Given the description of an element on the screen output the (x, y) to click on. 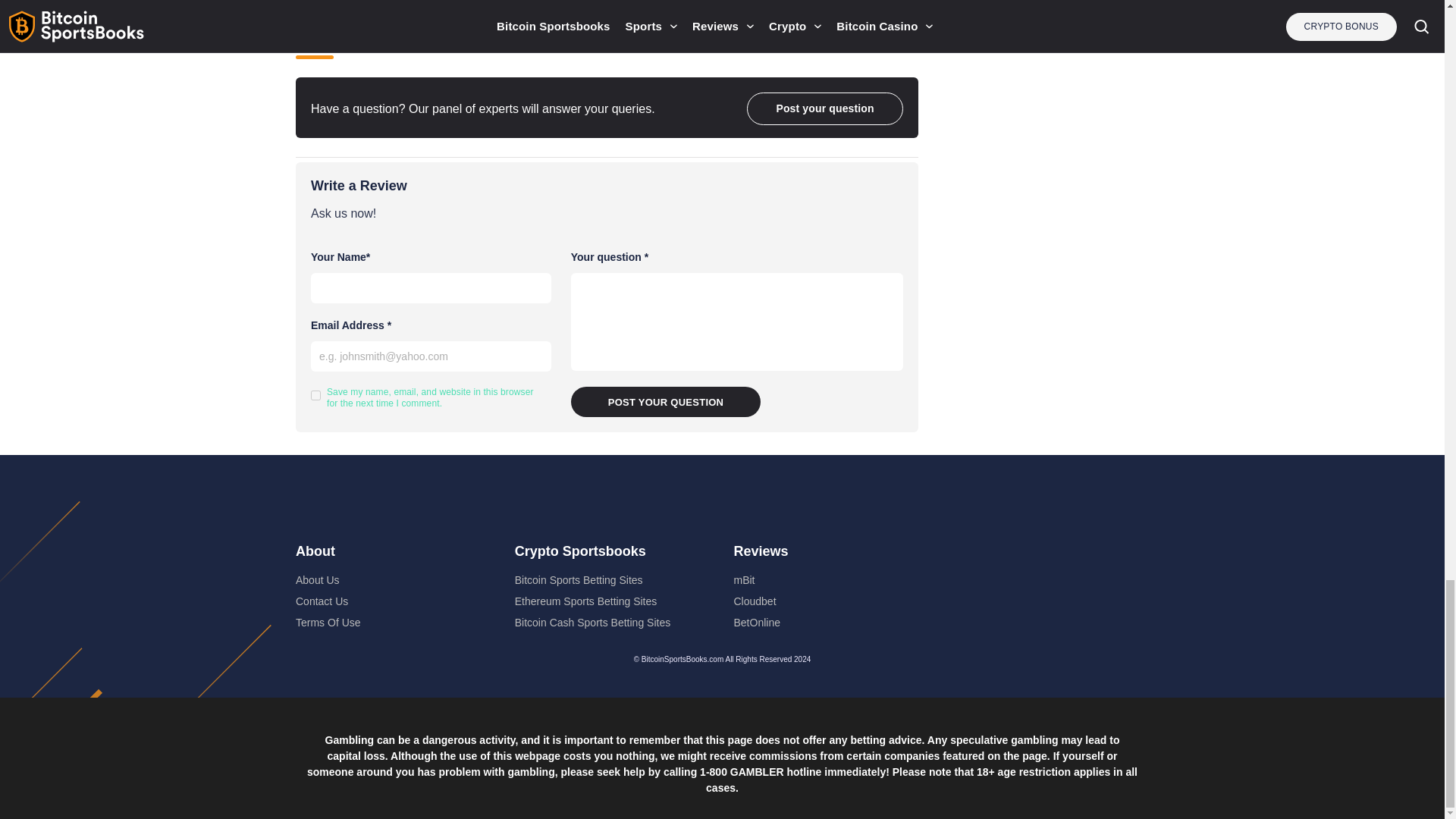
Post your question (665, 401)
yes (315, 395)
